Given the description of an element on the screen output the (x, y) to click on. 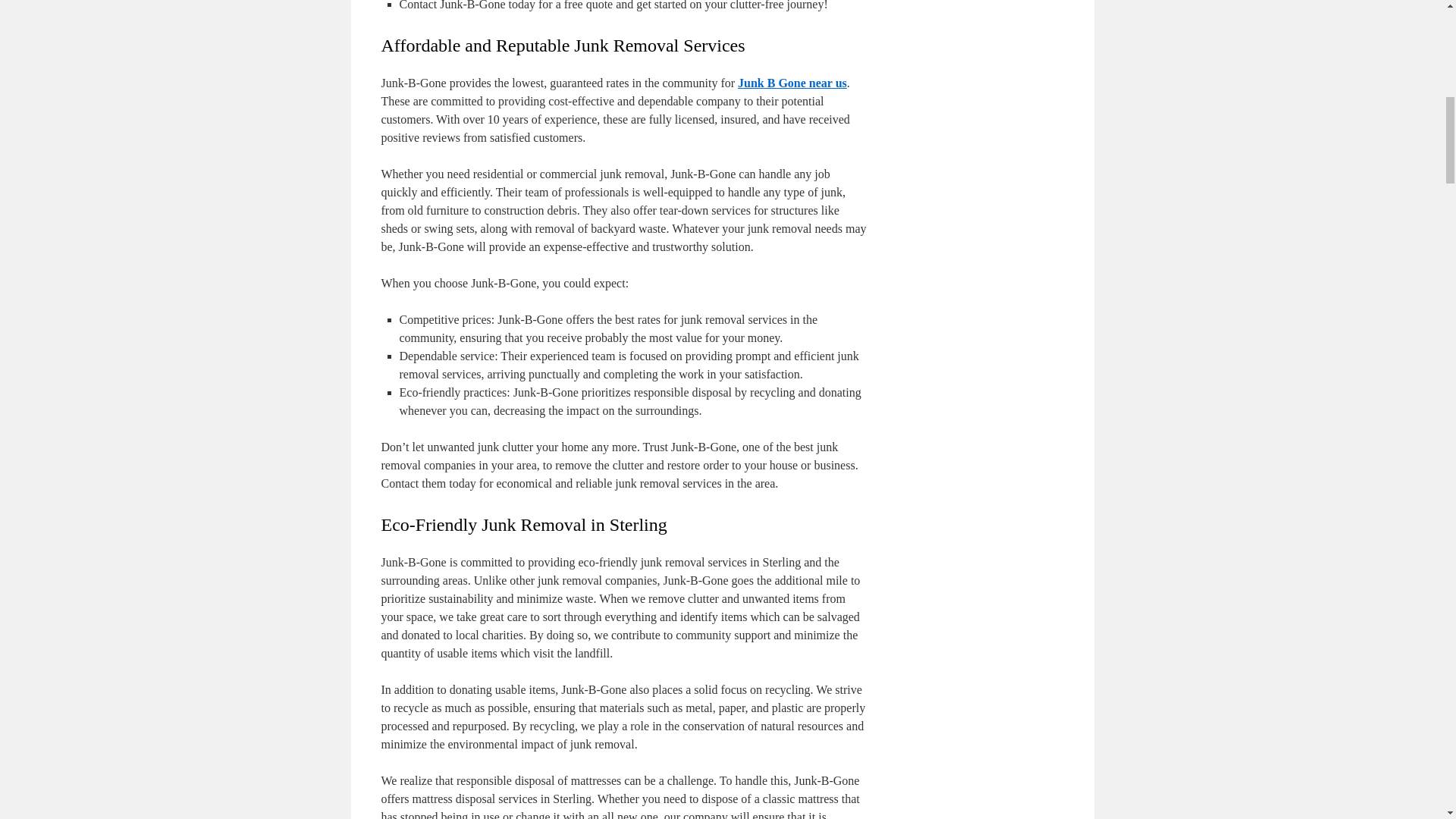
Junk B Gone near us (792, 82)
